Given the description of an element on the screen output the (x, y) to click on. 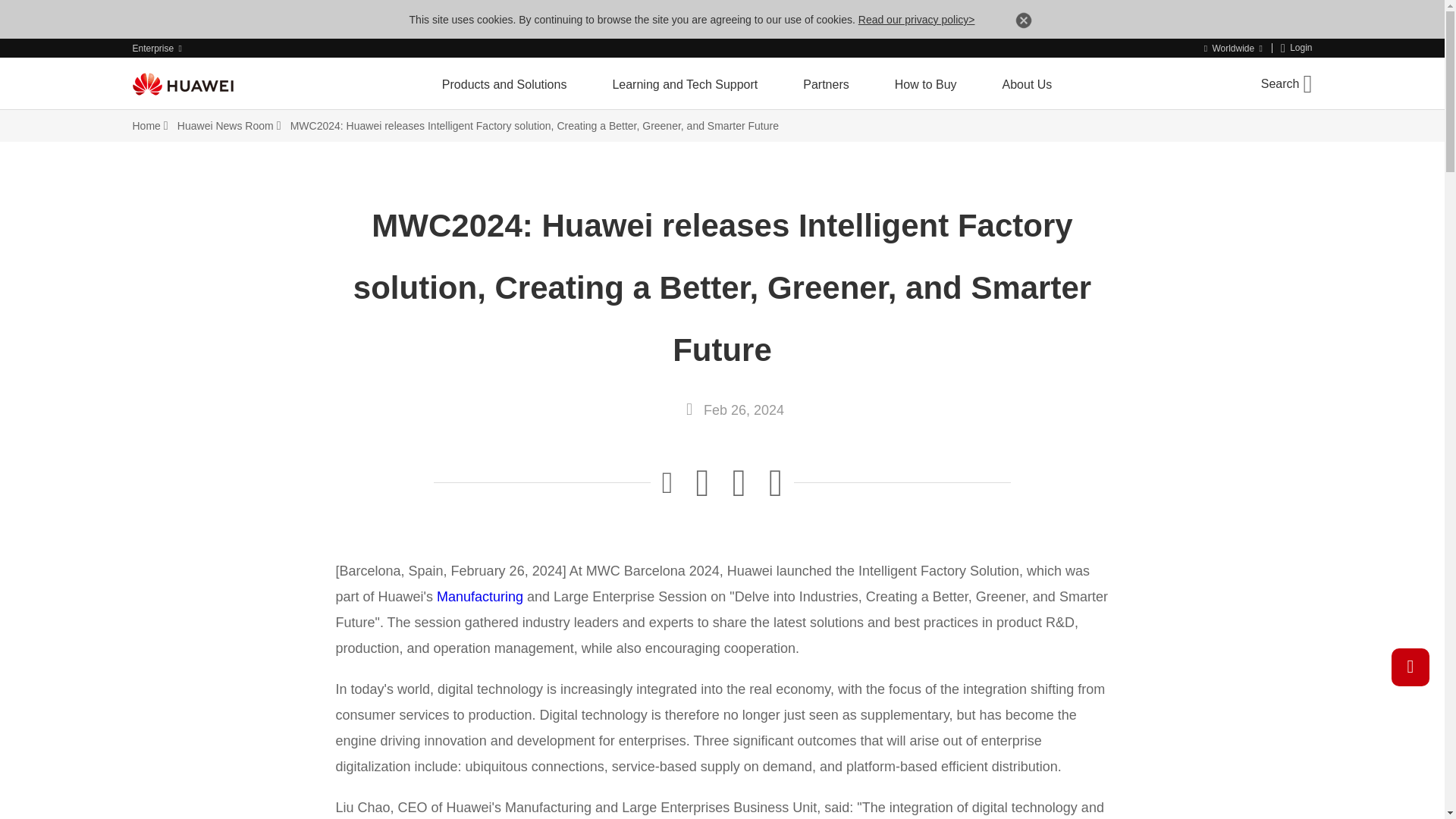
Login (1296, 48)
